Given the description of an element on the screen output the (x, y) to click on. 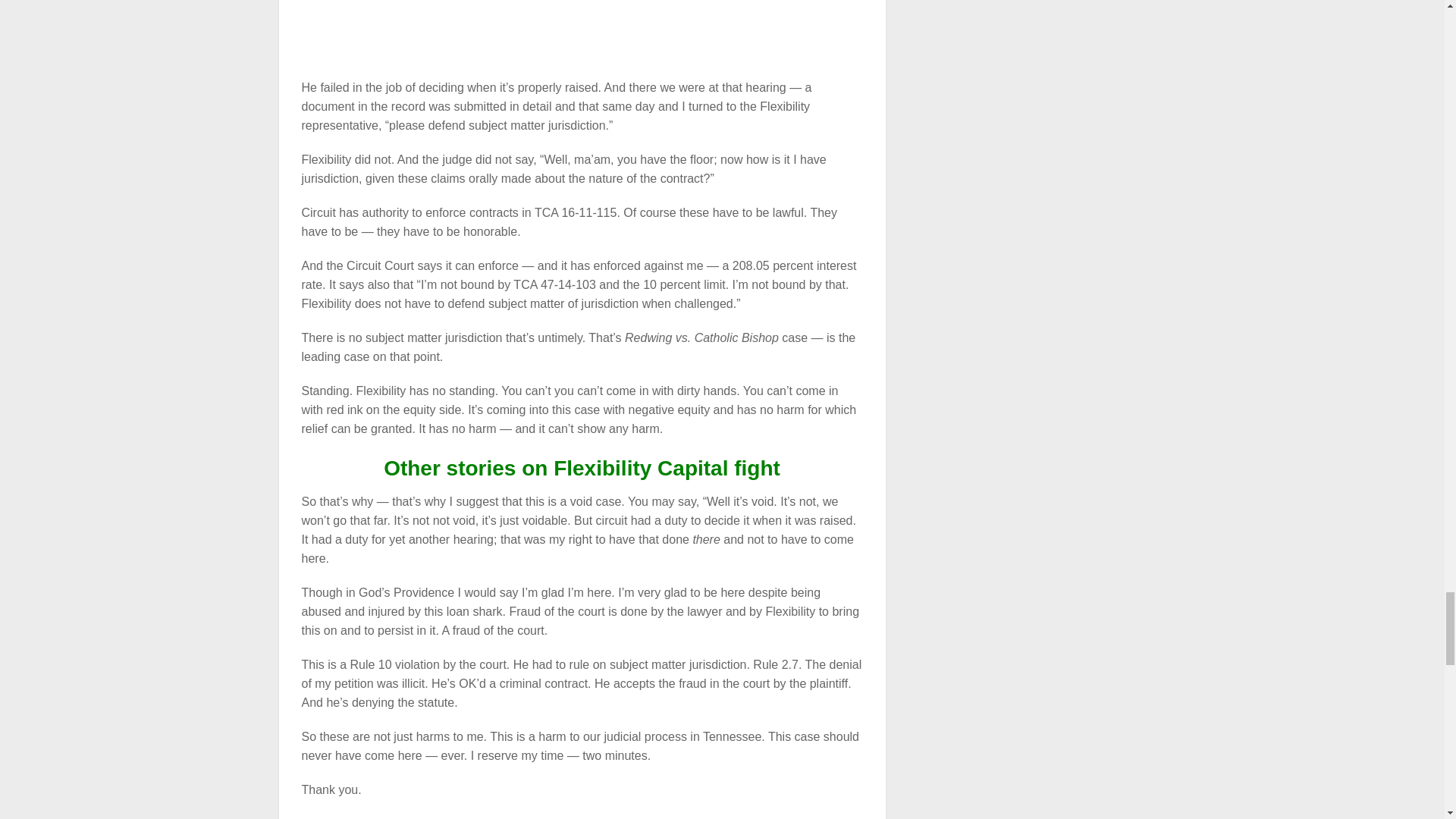
Other stories on Flexibility Capital fight (582, 467)
